Given the description of an element on the screen output the (x, y) to click on. 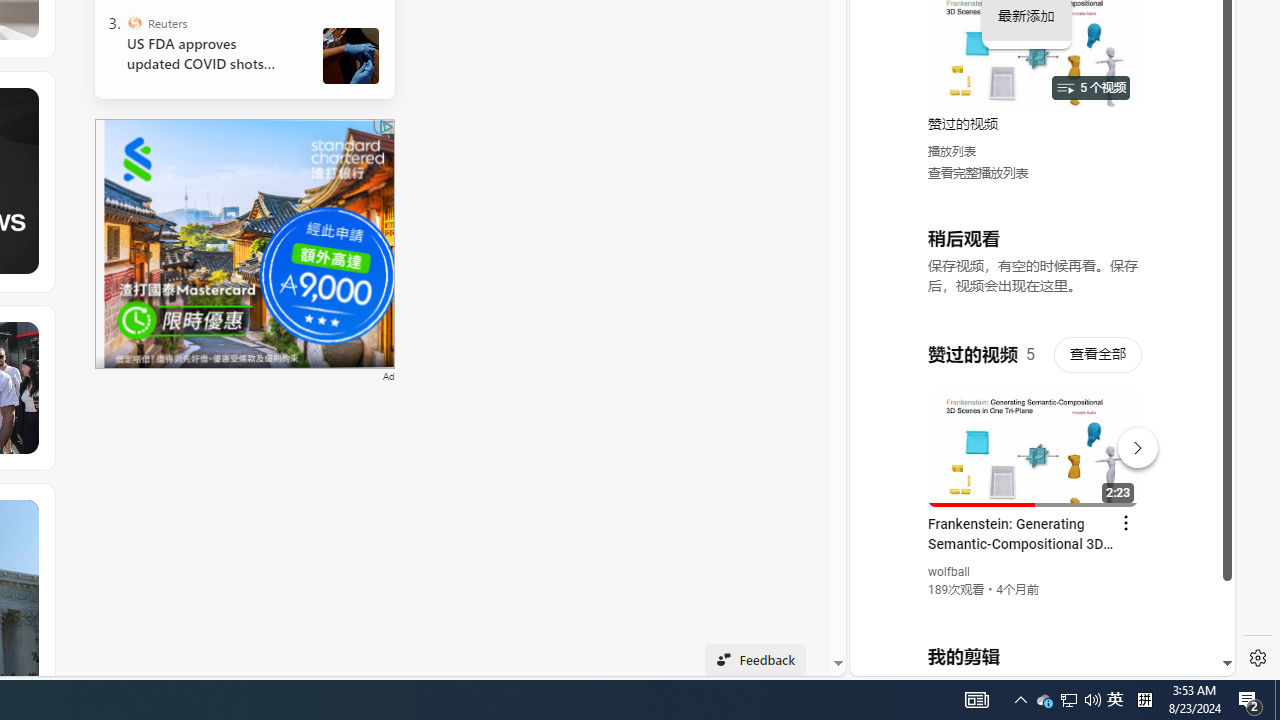
US[ju] (917, 660)
